Given the description of an element on the screen output the (x, y) to click on. 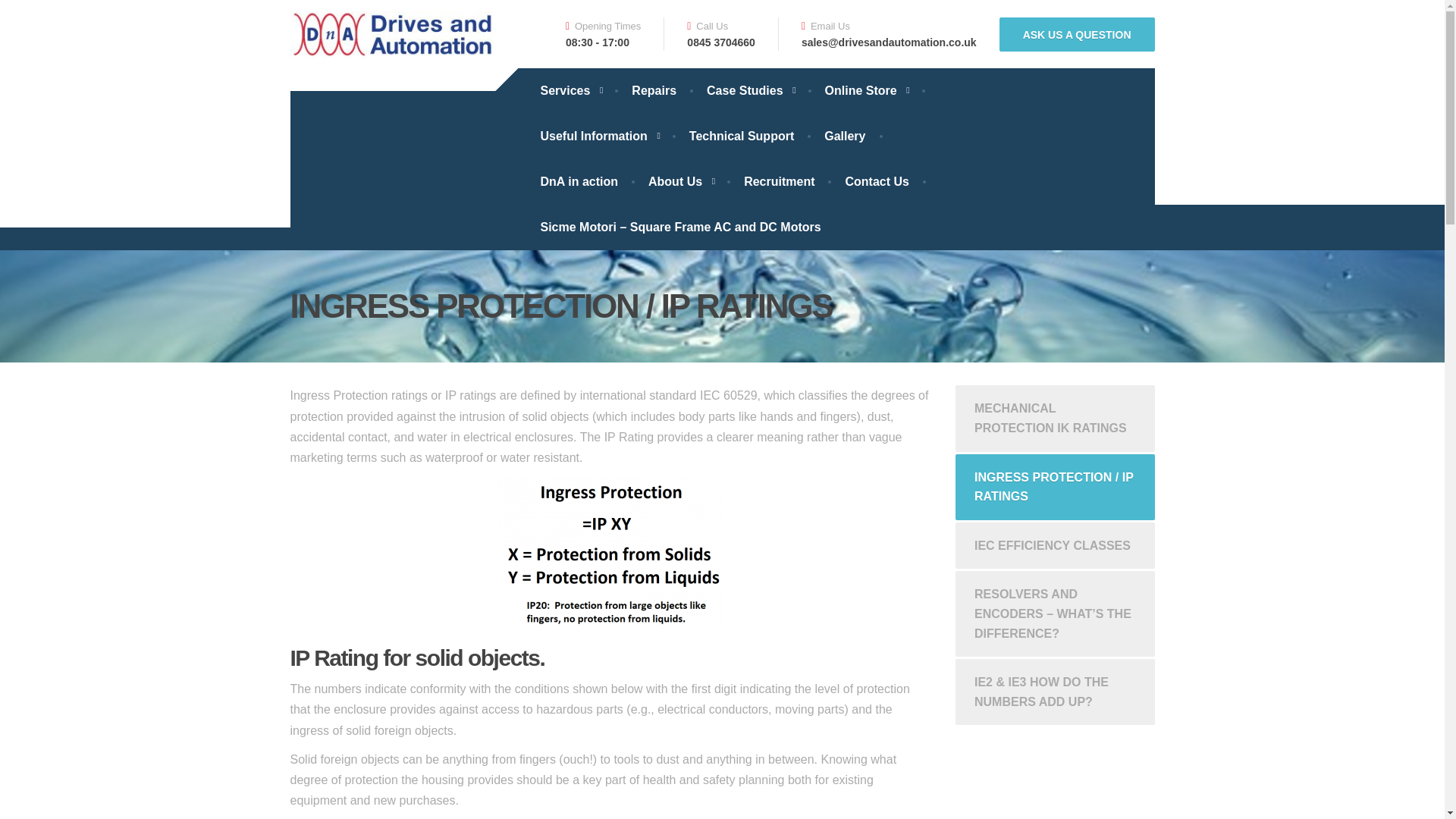
Case Studies (750, 90)
Online Store (866, 90)
Repairs (653, 90)
Useful Information (598, 135)
Services (569, 90)
